Given the description of an element on the screen output the (x, y) to click on. 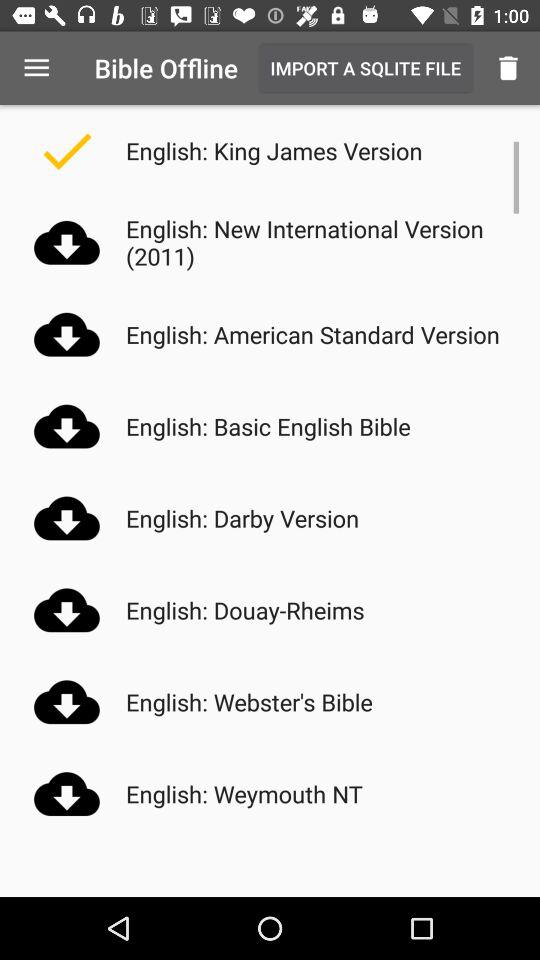
tap the item next to the import a sqlite icon (508, 67)
